Given the description of an element on the screen output the (x, y) to click on. 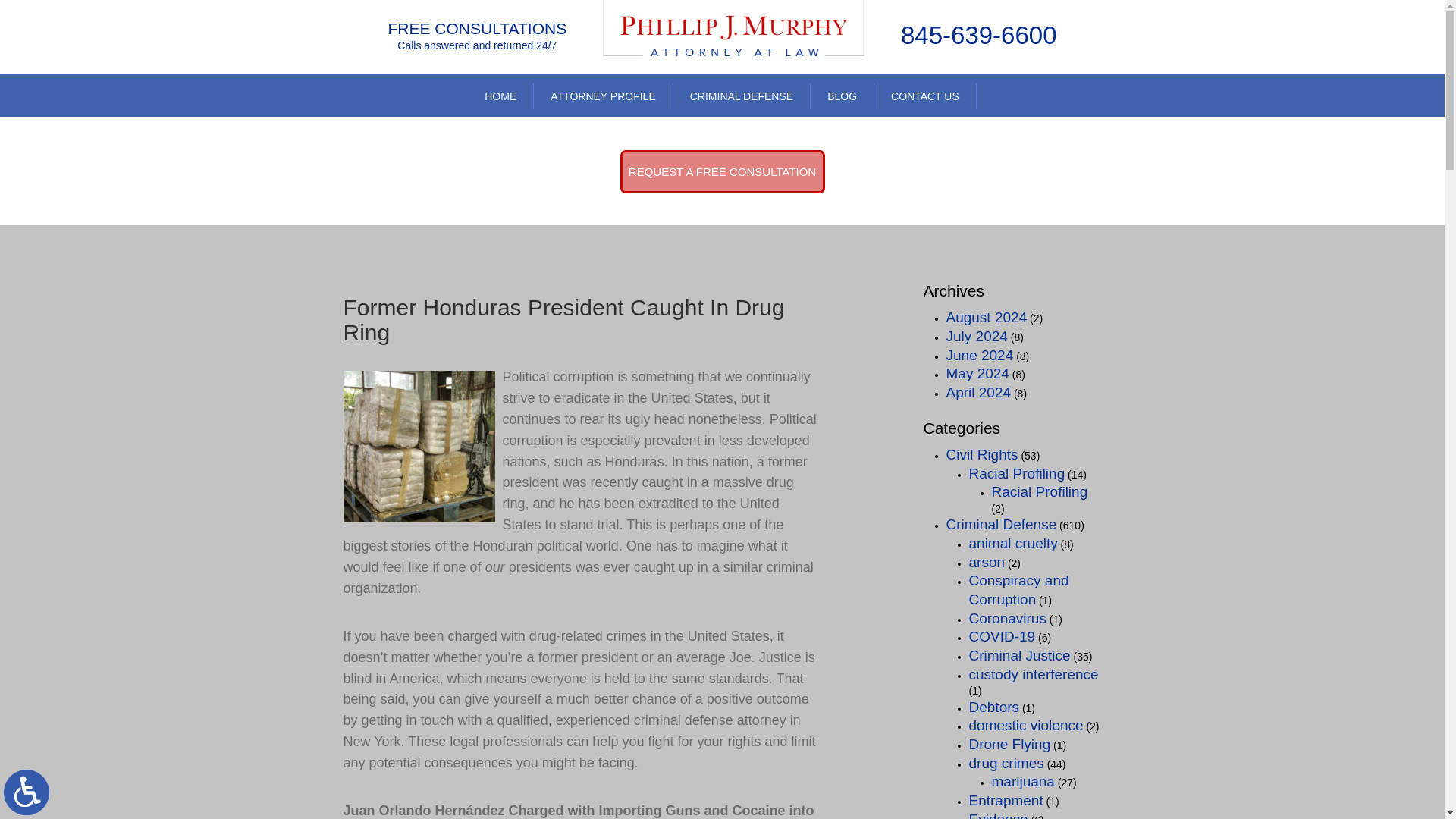
CONTACT US (924, 95)
BLOG (841, 95)
HOME (500, 95)
ATTORNEY PROFILE (602, 95)
DrugSmug2 (418, 446)
845-639-6600 (979, 34)
CRIMINAL DEFENSE (741, 95)
REQUEST A FREE CONSULTATION (722, 171)
